Given the description of an element on the screen output the (x, y) to click on. 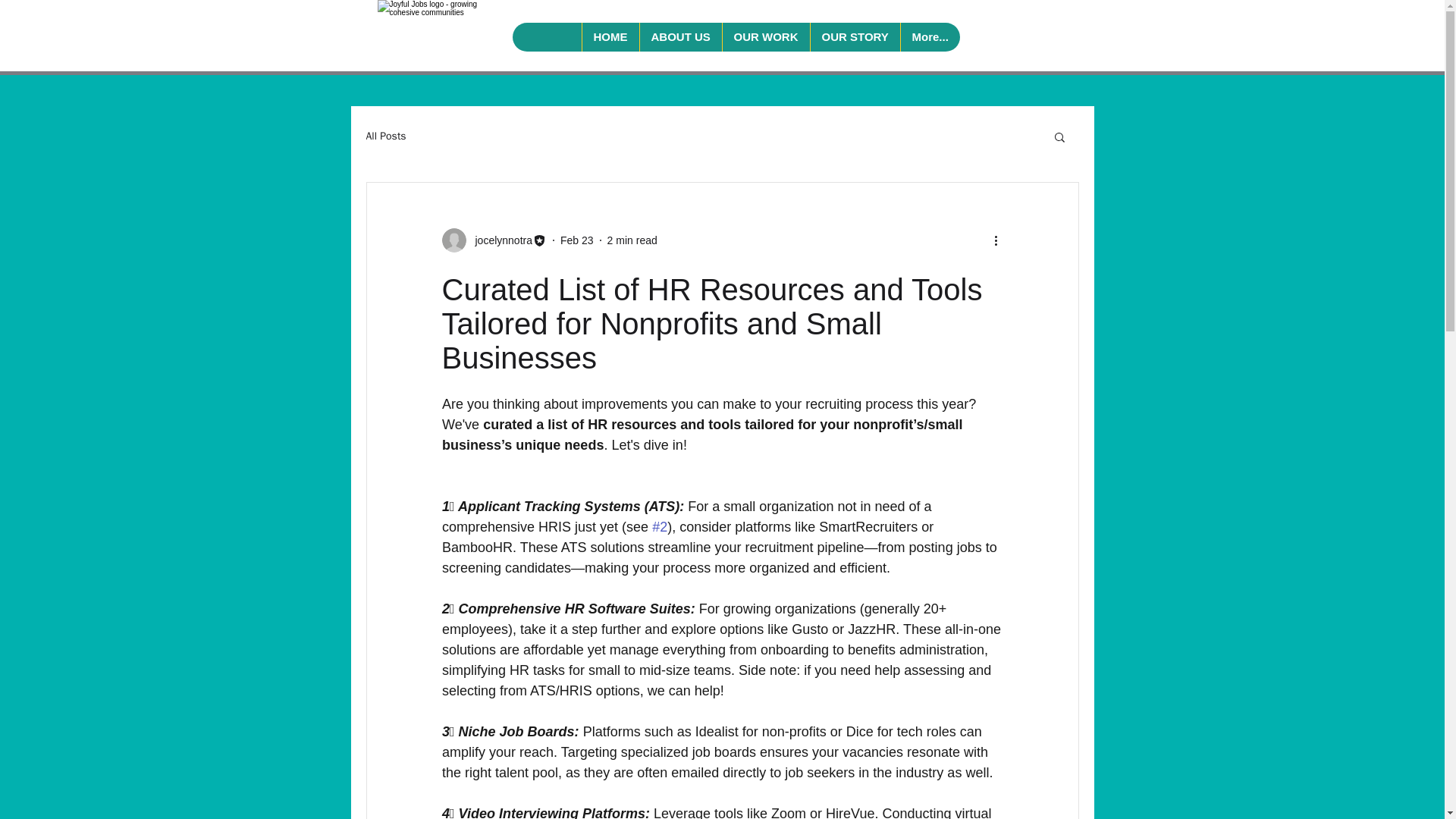
OUR STORY (854, 36)
HOME (609, 36)
Feb 23 (577, 239)
OUR WORK (765, 36)
jocelynnotra (494, 240)
ABOUT US (679, 36)
2 min read (632, 239)
All Posts (385, 136)
jocelynnotra (498, 239)
